Given the description of an element on the screen output the (x, y) to click on. 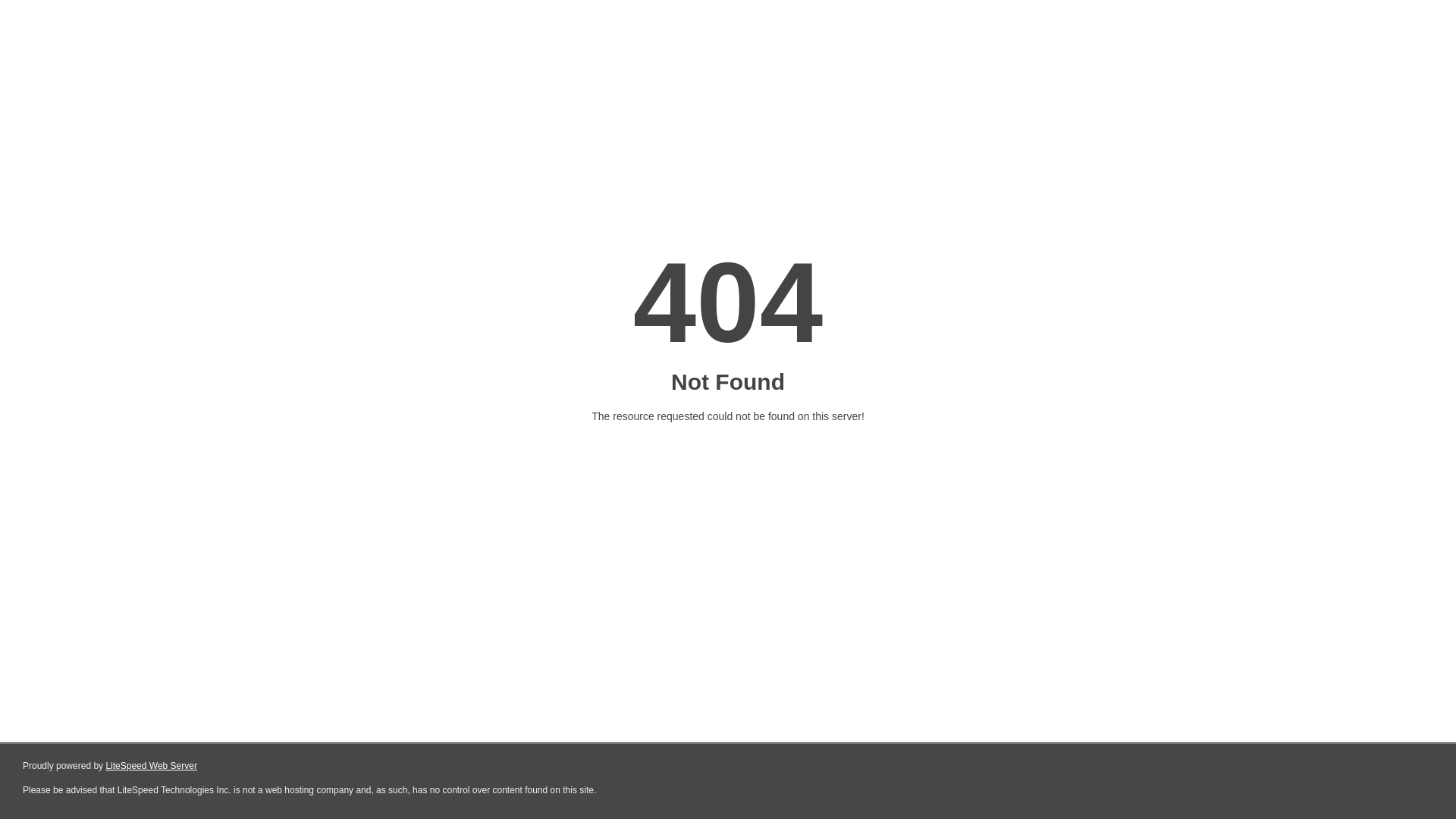
LiteSpeed Web Server Element type: text (151, 765)
